Given the description of an element on the screen output the (x, y) to click on. 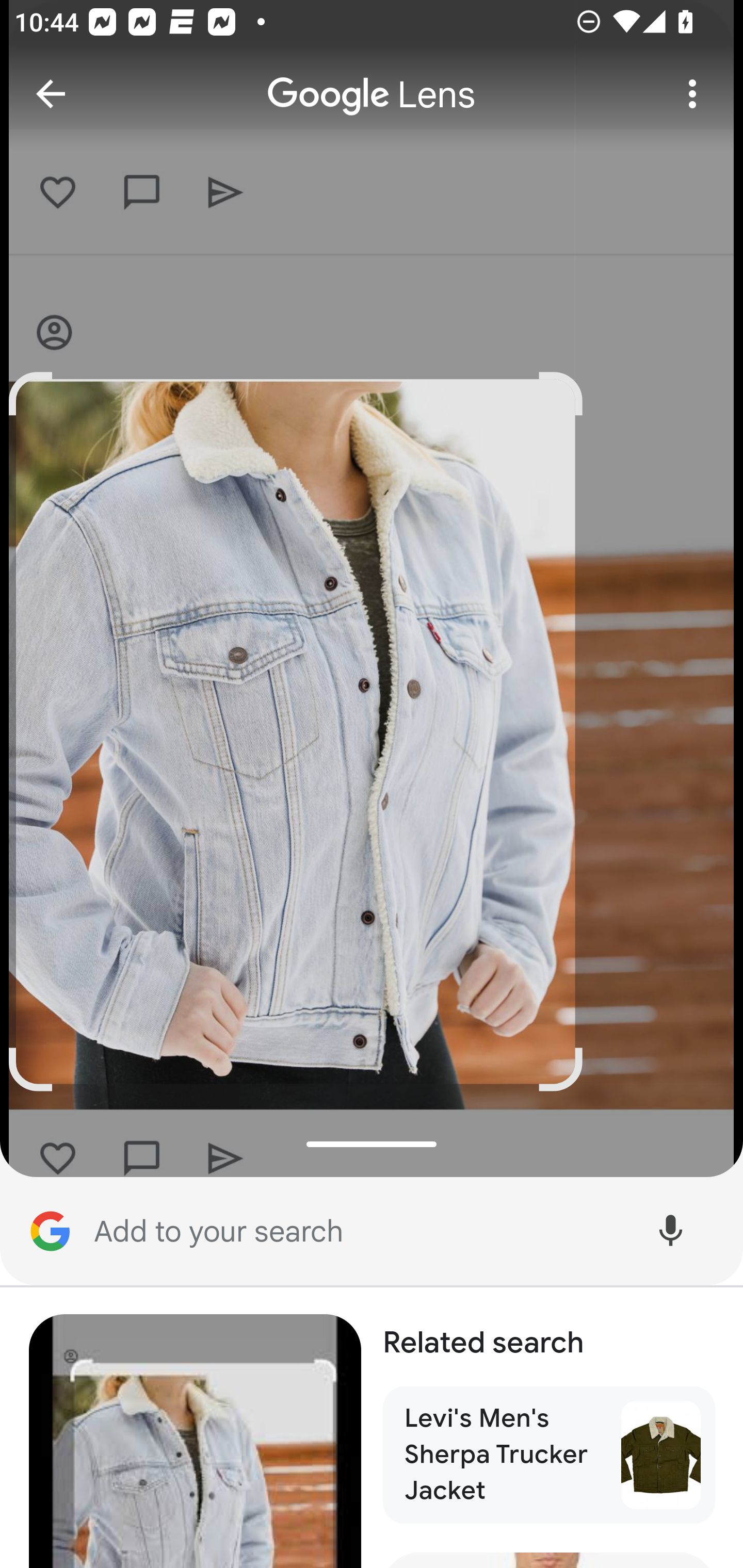
Voice Search (670, 1231)
wani fhising rukky (@OkkyWani) / X from X (195, 1440)
Levi's Men's Sherpa Trucker Jacket (549, 1455)
